Given the description of an element on the screen output the (x, y) to click on. 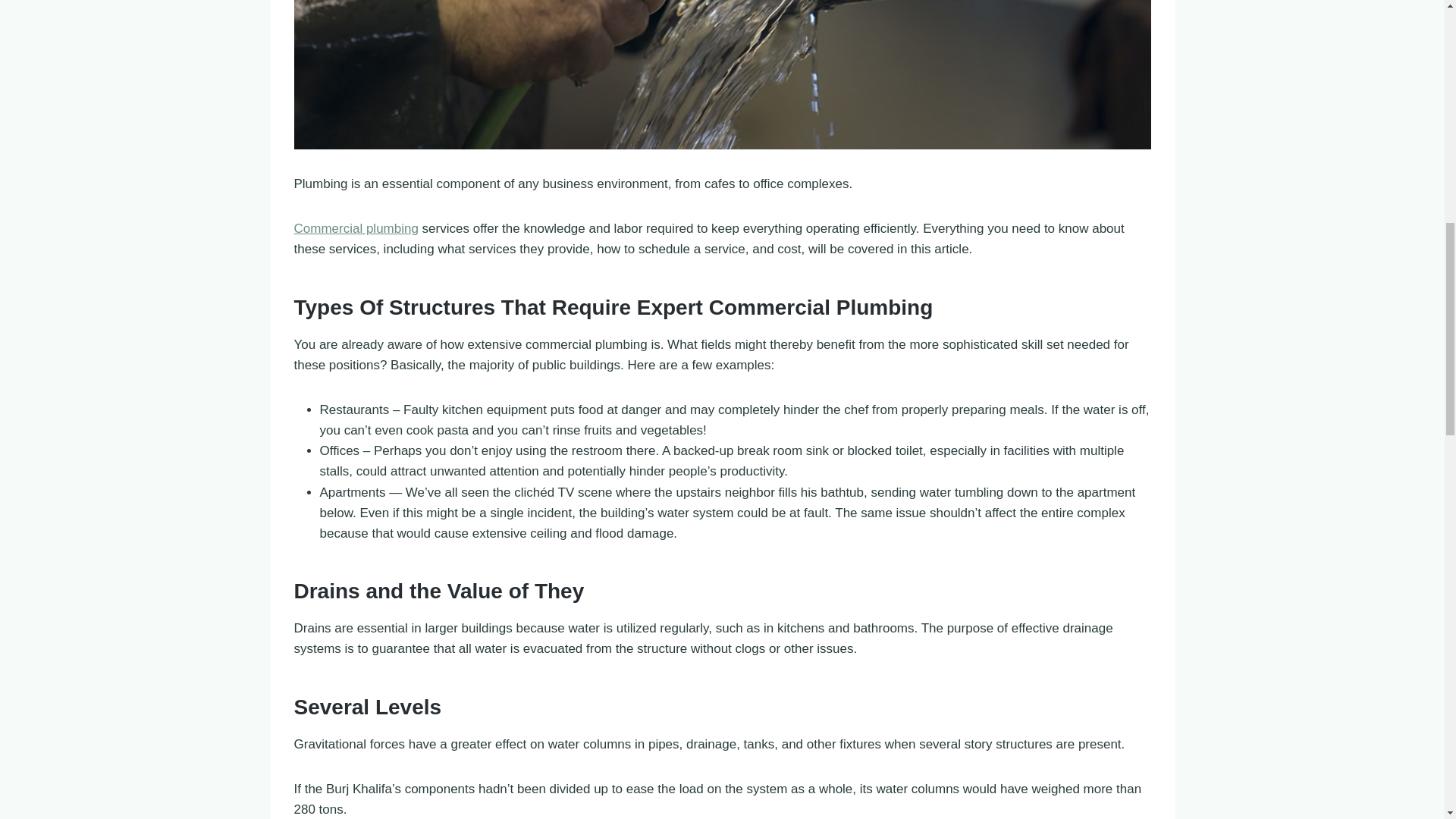
Commercial plumbing (356, 228)
